Given the description of an element on the screen output the (x, y) to click on. 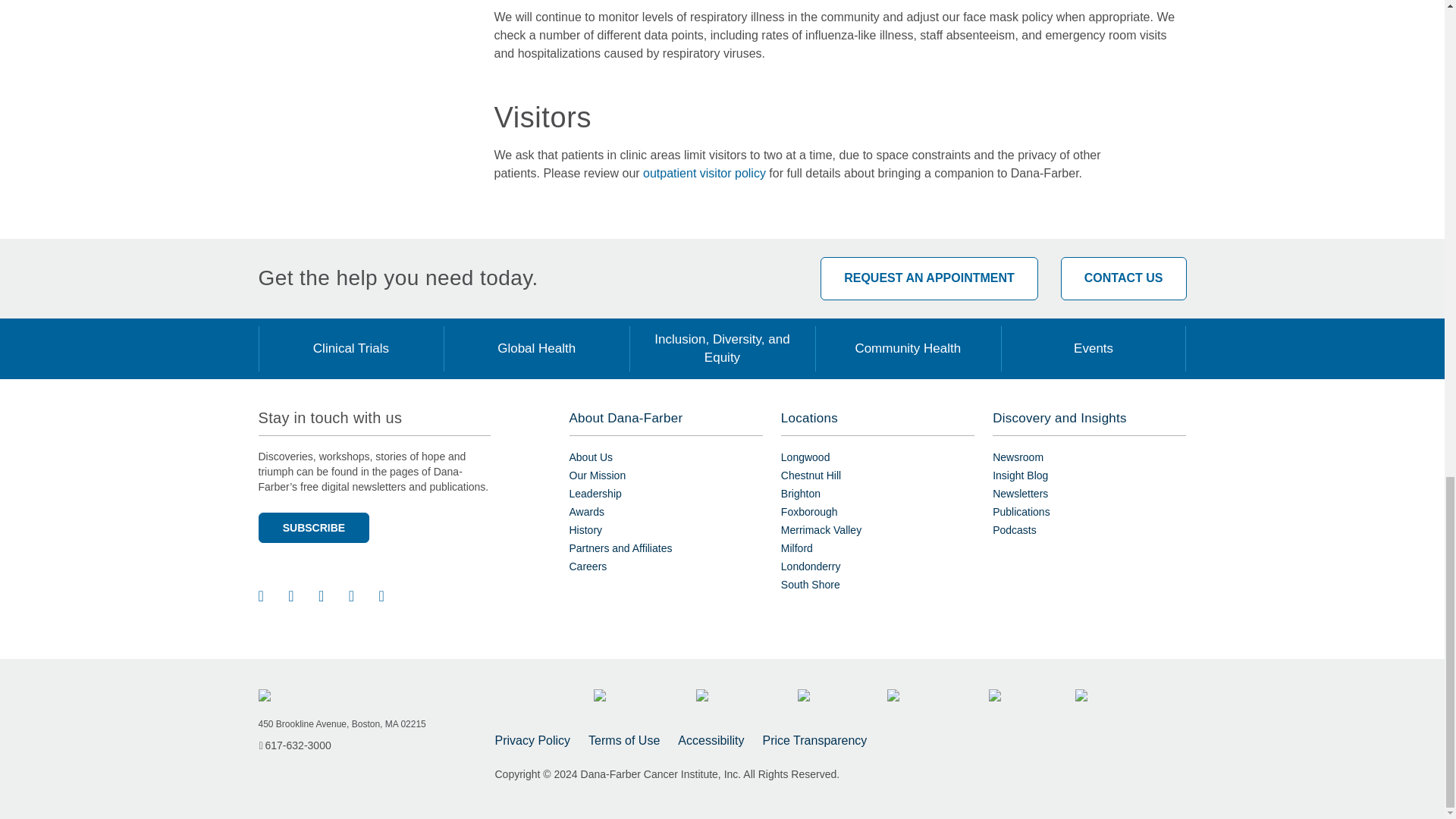
Dana-Farber Informational Website Privacy Policy (532, 741)
Dana-Farber Website Accessibility Statement (711, 741)
These Terms of Use govern your use of our Sites. (623, 741)
